Given the description of an element on the screen output the (x, y) to click on. 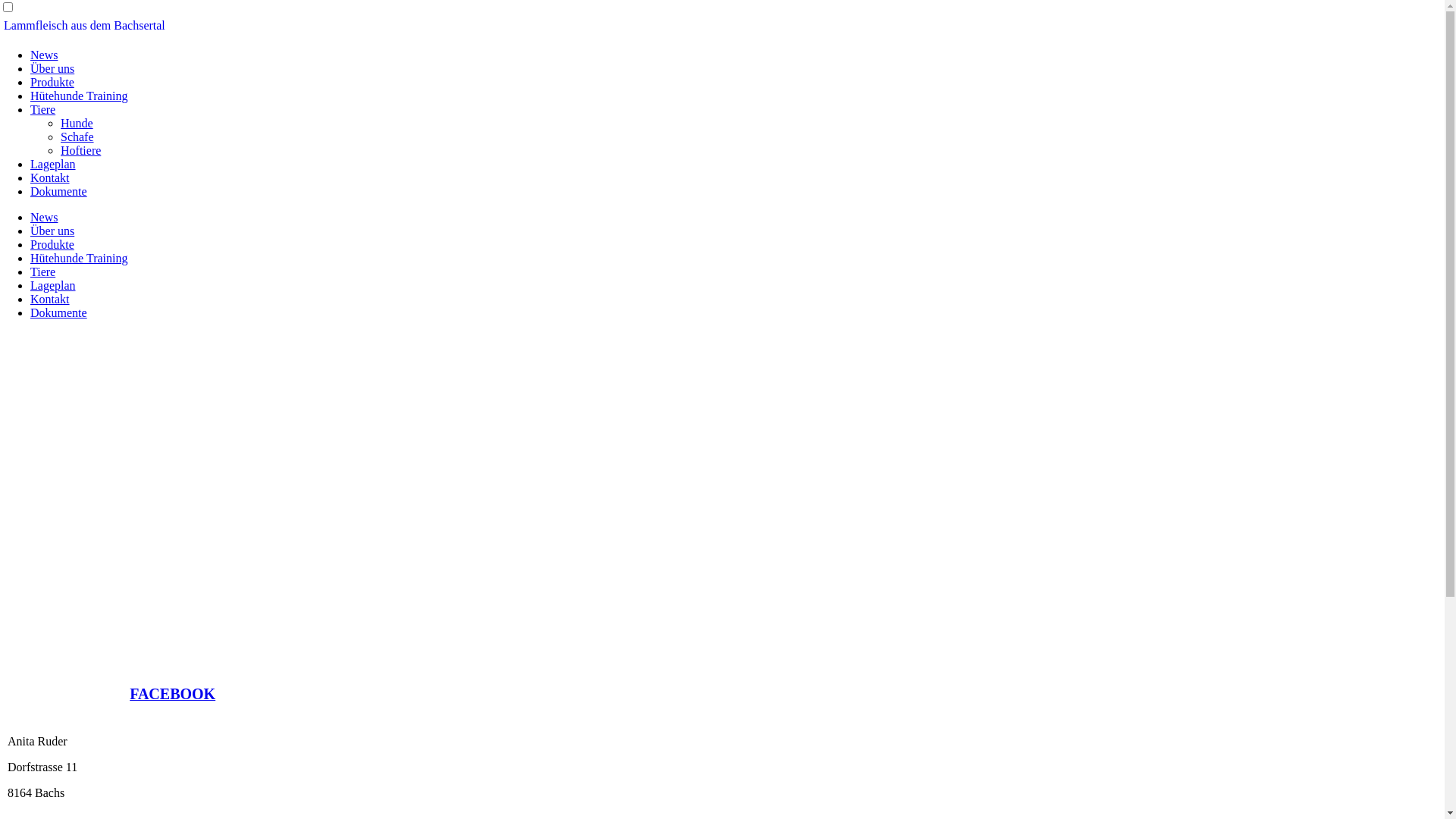
Dokumente Element type: text (58, 312)
Produkte Element type: text (52, 81)
News Element type: text (43, 216)
Tiere Element type: text (42, 109)
Hoftiere Element type: text (80, 150)
Lageplan Element type: text (52, 163)
News Element type: text (43, 54)
Produkte Element type: text (52, 244)
Lageplan Element type: text (52, 285)
Kontakt Element type: text (49, 177)
Kontakt Element type: text (49, 298)
Tiere Element type: text (42, 271)
Schafe Element type: text (77, 136)
Dokumente Element type: text (58, 191)
Hunde Element type: text (76, 122)
Lammfleisch aus dem Bachsertal Element type: text (84, 24)
FACEBOOK Element type: text (172, 694)
